Given the description of an element on the screen output the (x, y) to click on. 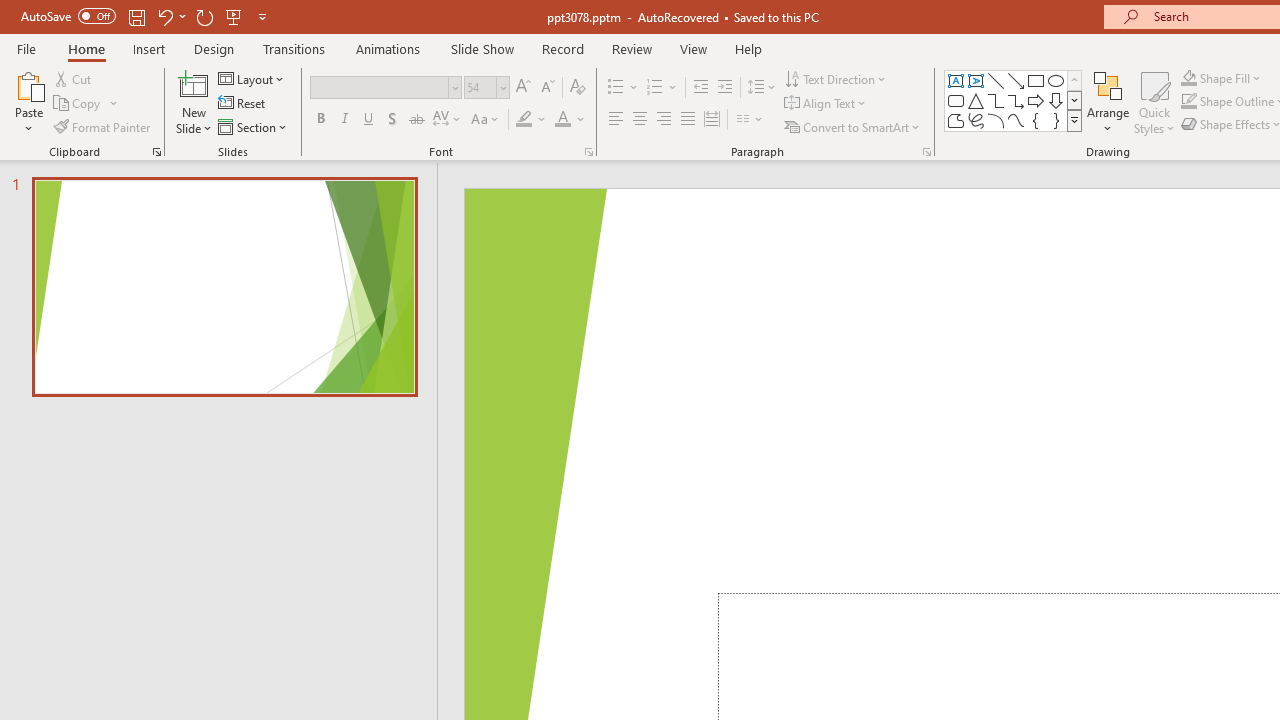
New Slide (193, 84)
Row Down (1074, 100)
Class: NetUIImage (1075, 120)
Slide Show (481, 48)
Shapes (1074, 120)
Arrow: Right (1035, 100)
Isosceles Triangle (975, 100)
Justify (687, 119)
Arrange (1108, 102)
Character Spacing (447, 119)
More Options (1232, 78)
Strikethrough (416, 119)
Undo (164, 15)
Shadow (392, 119)
AutomationID: ShapesInsertGallery (1014, 100)
